Given the description of an element on the screen output the (x, y) to click on. 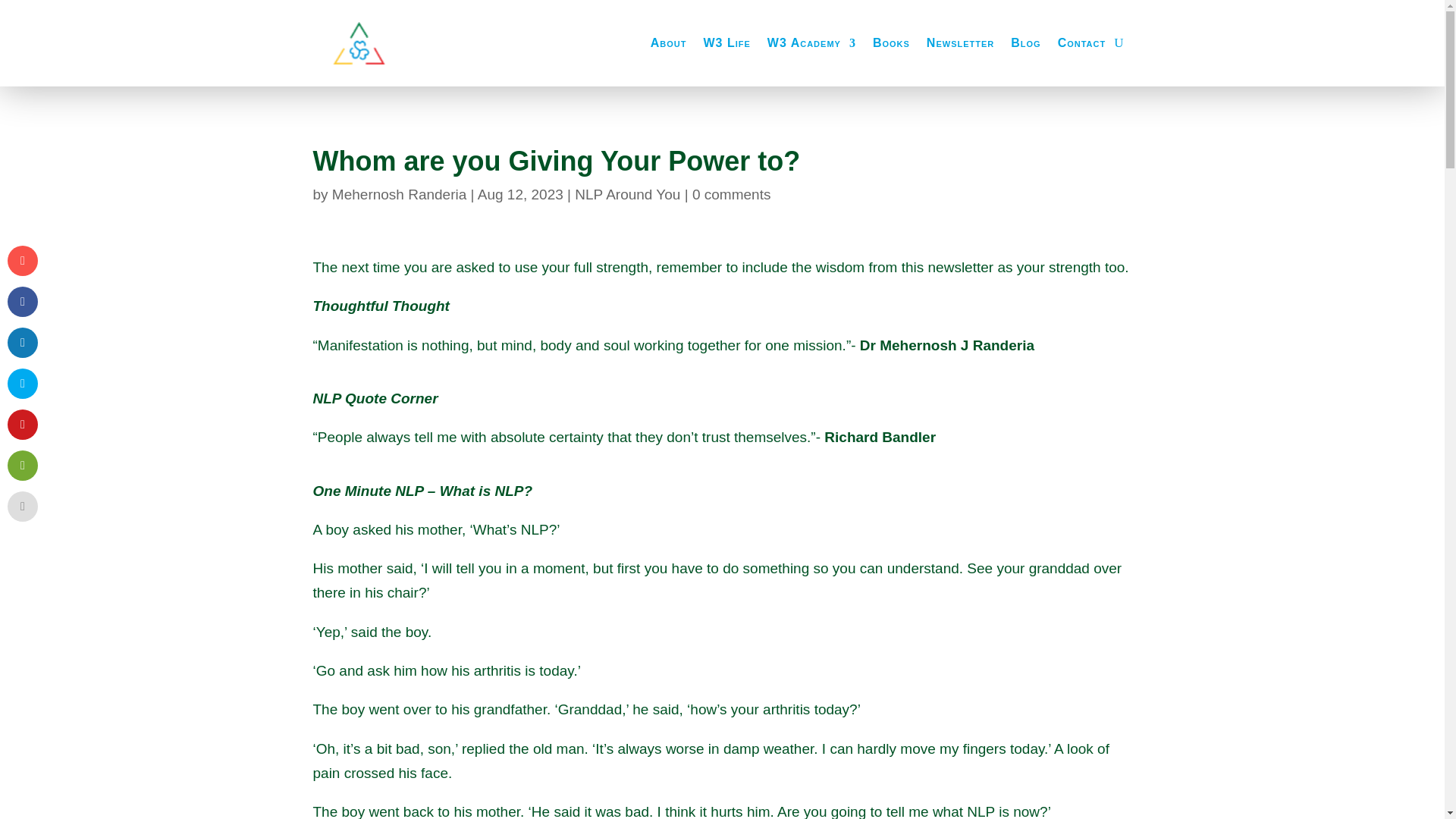
0 comments (731, 194)
Mehernosh Randeria (398, 194)
NLP Around You (627, 194)
Posts by Mehernosh Randeria (398, 194)
W3 Academy (811, 43)
Newsletter (960, 43)
